Given the description of an element on the screen output the (x, y) to click on. 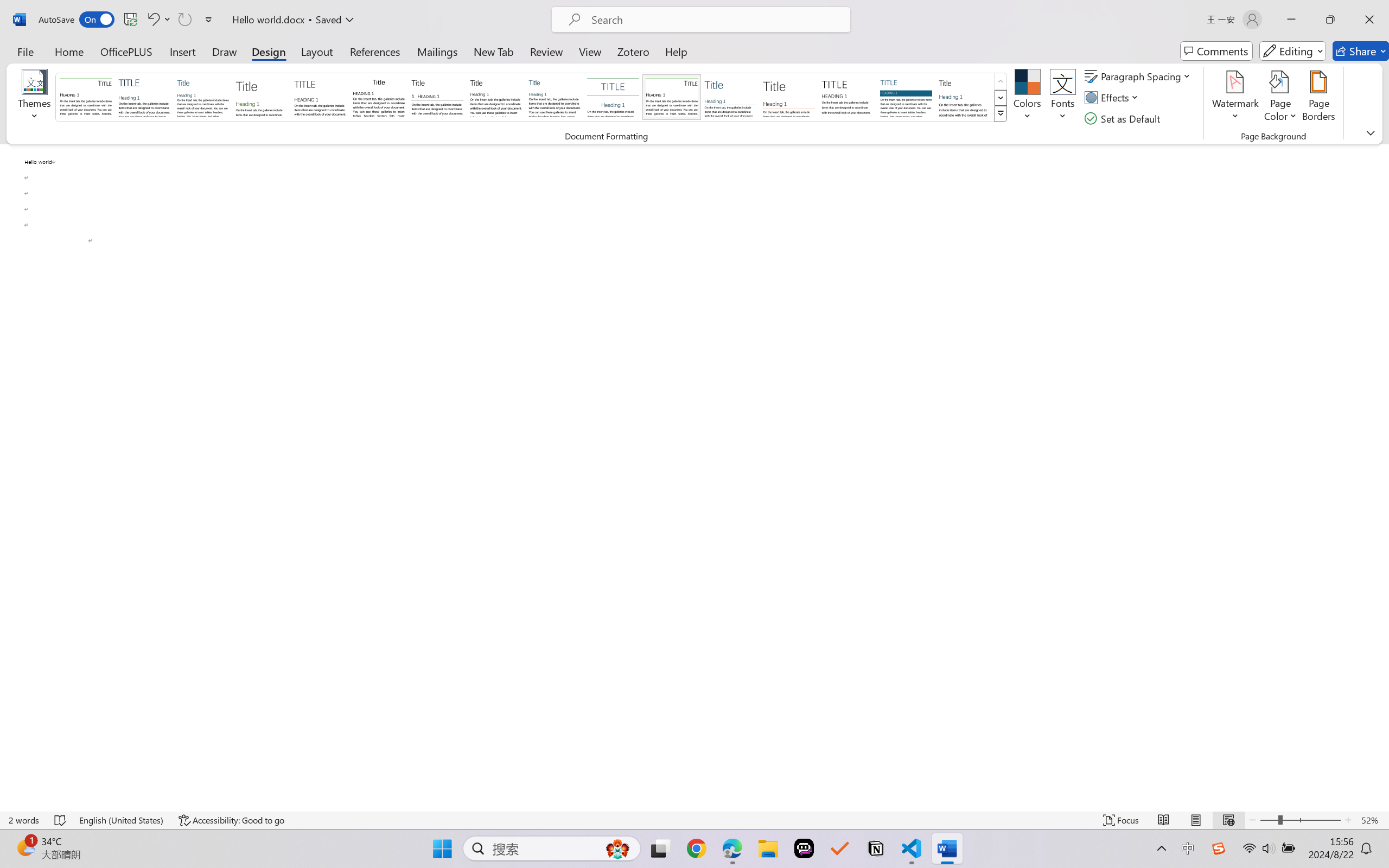
Help (675, 51)
Class: MsoCommandBar (694, 819)
Zoom (1300, 819)
Review (546, 51)
Class: NetUIScrollBar (1382, 477)
AutomationID: BadgeAnchorLargeTicker (24, 847)
Document (85, 96)
Row up (1000, 81)
Black & White (Capitalized) (320, 96)
Customize Quick Access Toolbar (208, 19)
More Options (167, 19)
Word Count 2 words (23, 819)
Language English (United States) (121, 819)
